Given the description of an element on the screen output the (x, y) to click on. 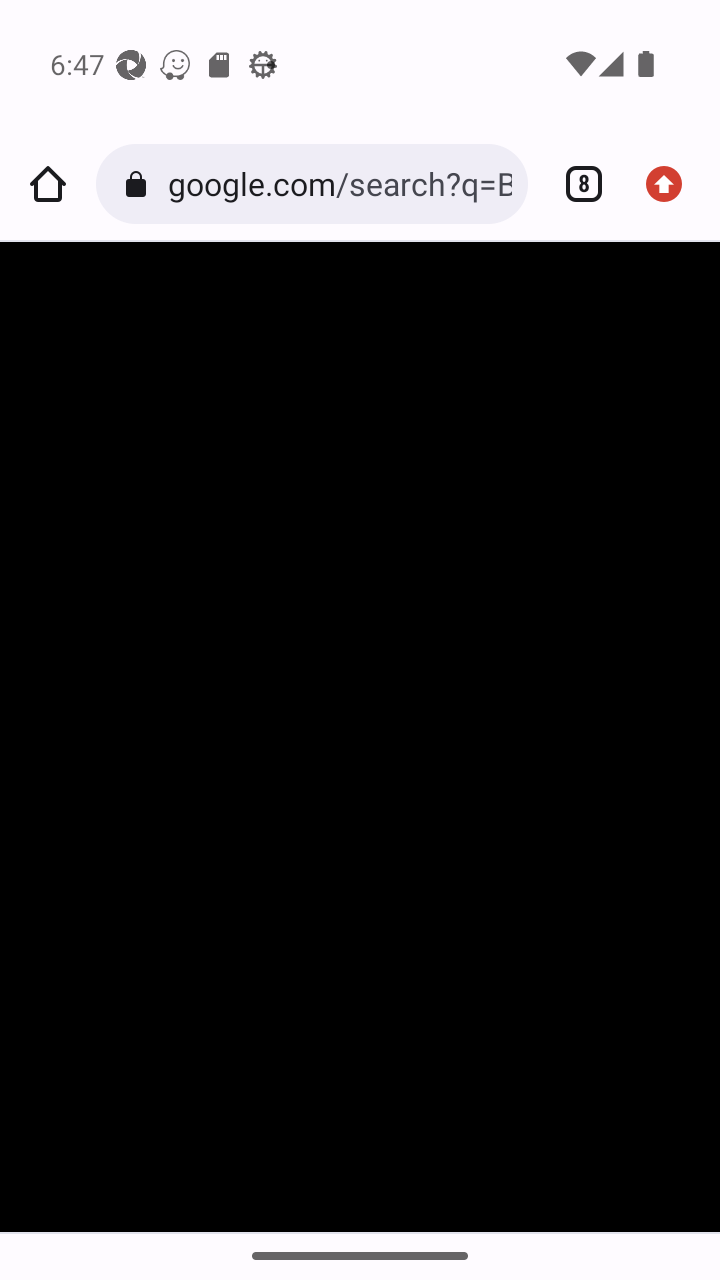
Home (47, 184)
Connection is secure (139, 184)
Switch or close tabs (575, 184)
Update available. More options (672, 184)
